Given the description of an element on the screen output the (x, y) to click on. 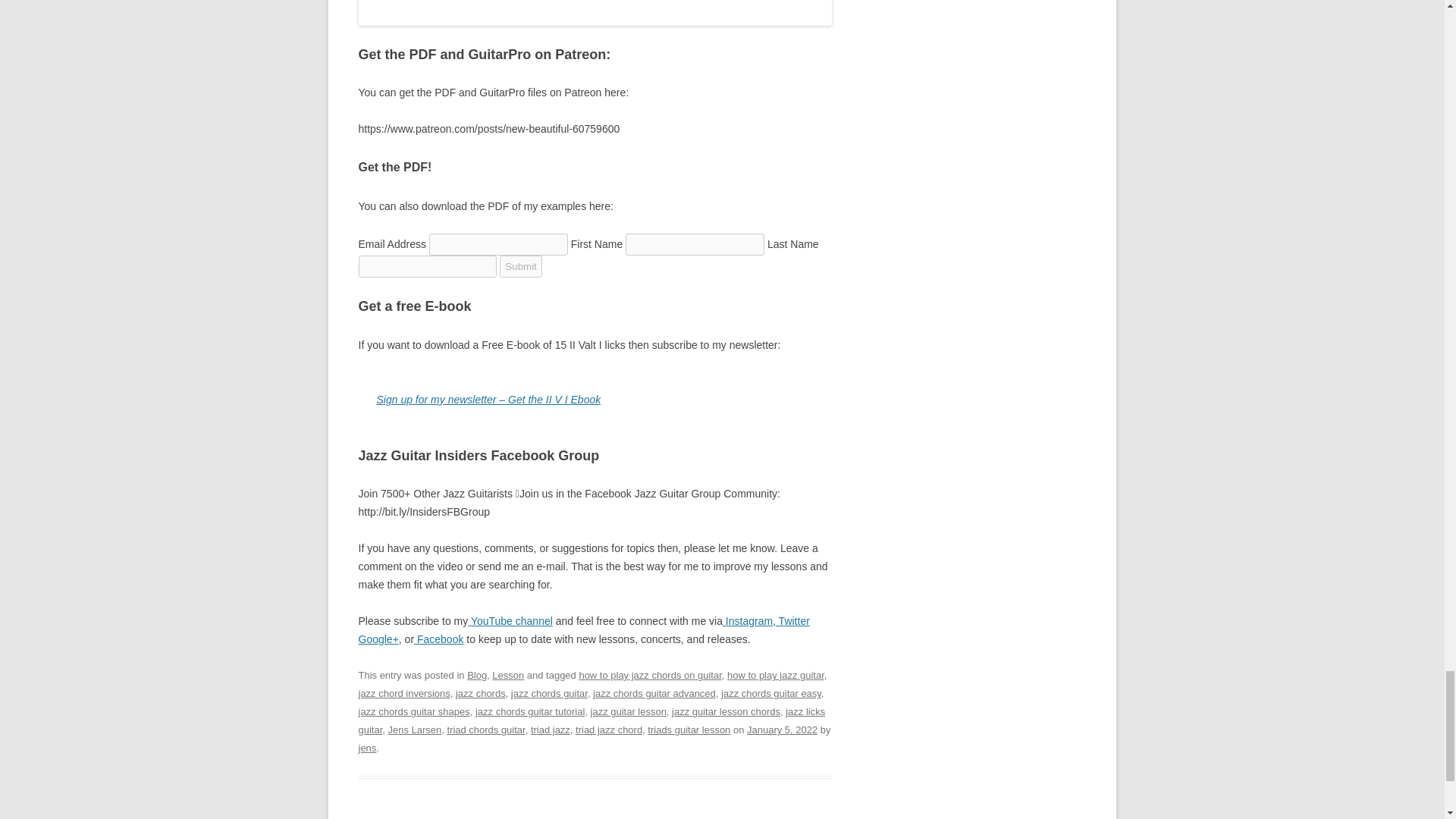
Blog (476, 674)
Submit (520, 266)
View all posts by jens (366, 747)
Twitter (792, 621)
Facebook (438, 639)
Instagram (747, 621)
12:40 (781, 729)
YouTube channel (510, 621)
